Given the description of an element on the screen output the (x, y) to click on. 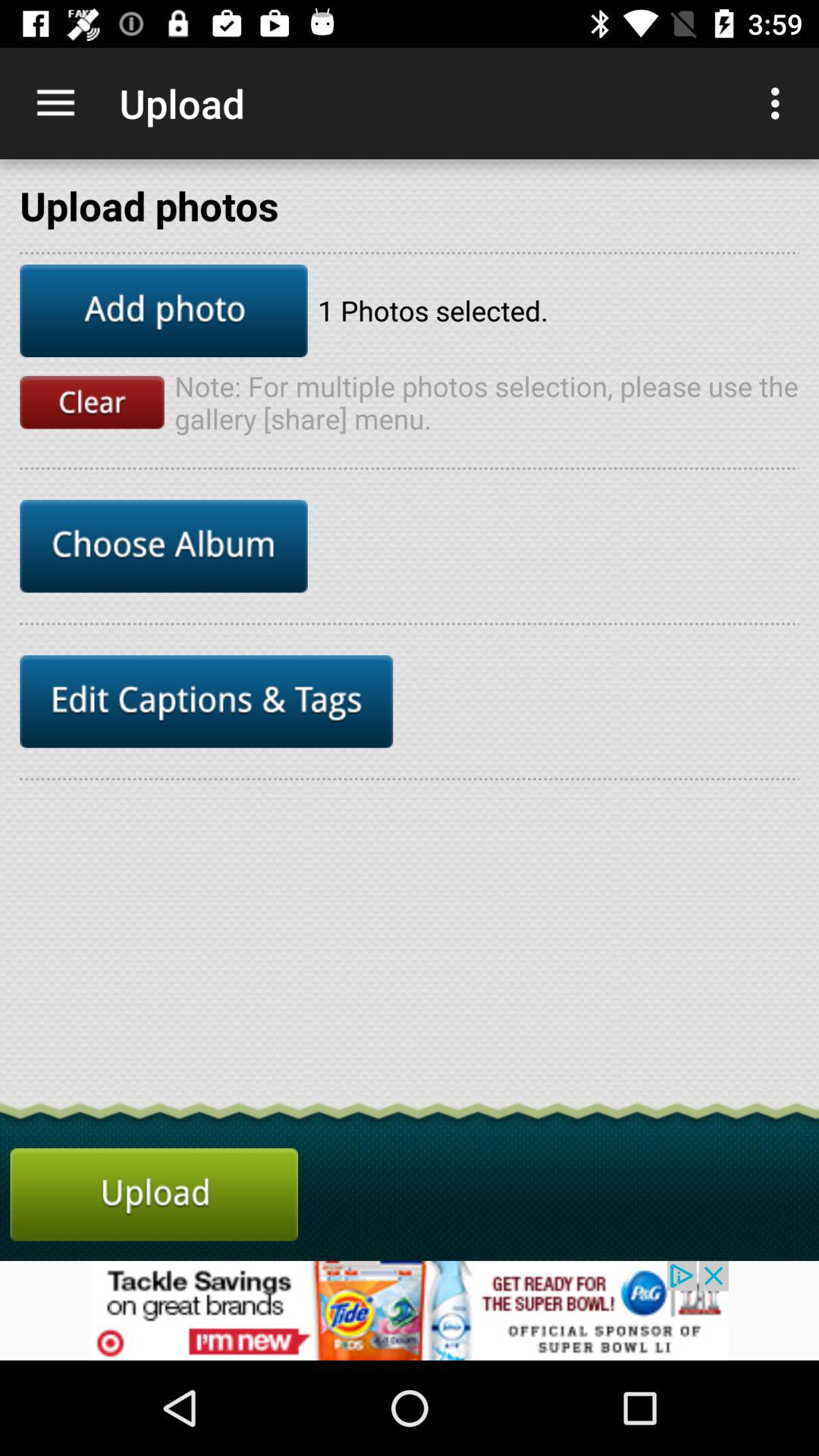
upload photo (163, 310)
